Given the description of an element on the screen output the (x, y) to click on. 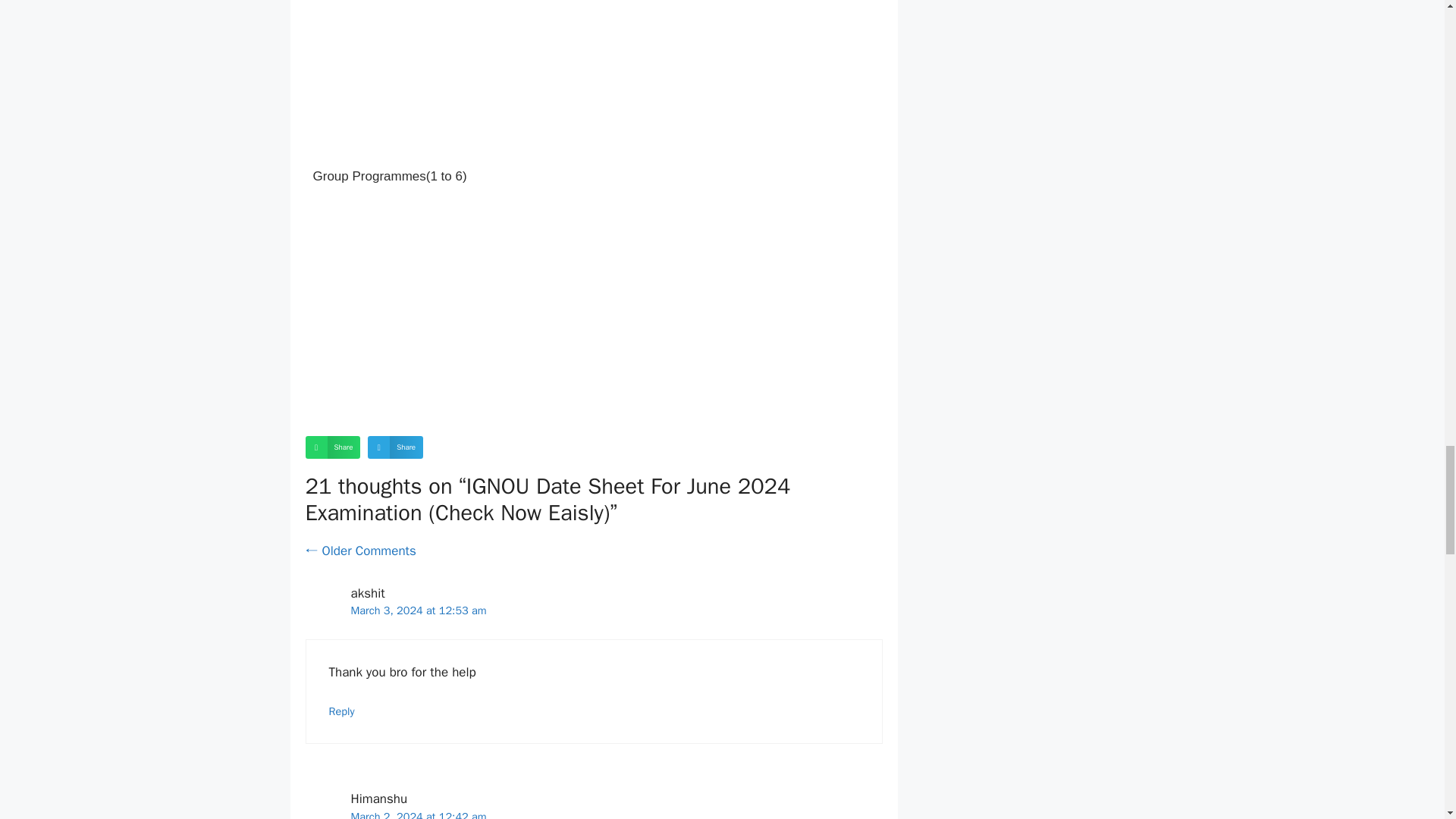
March 3, 2024 at 12:53 am (418, 610)
March 2, 2024 at 12:42 am (418, 814)
Reply (342, 710)
